Given the description of an element on the screen output the (x, y) to click on. 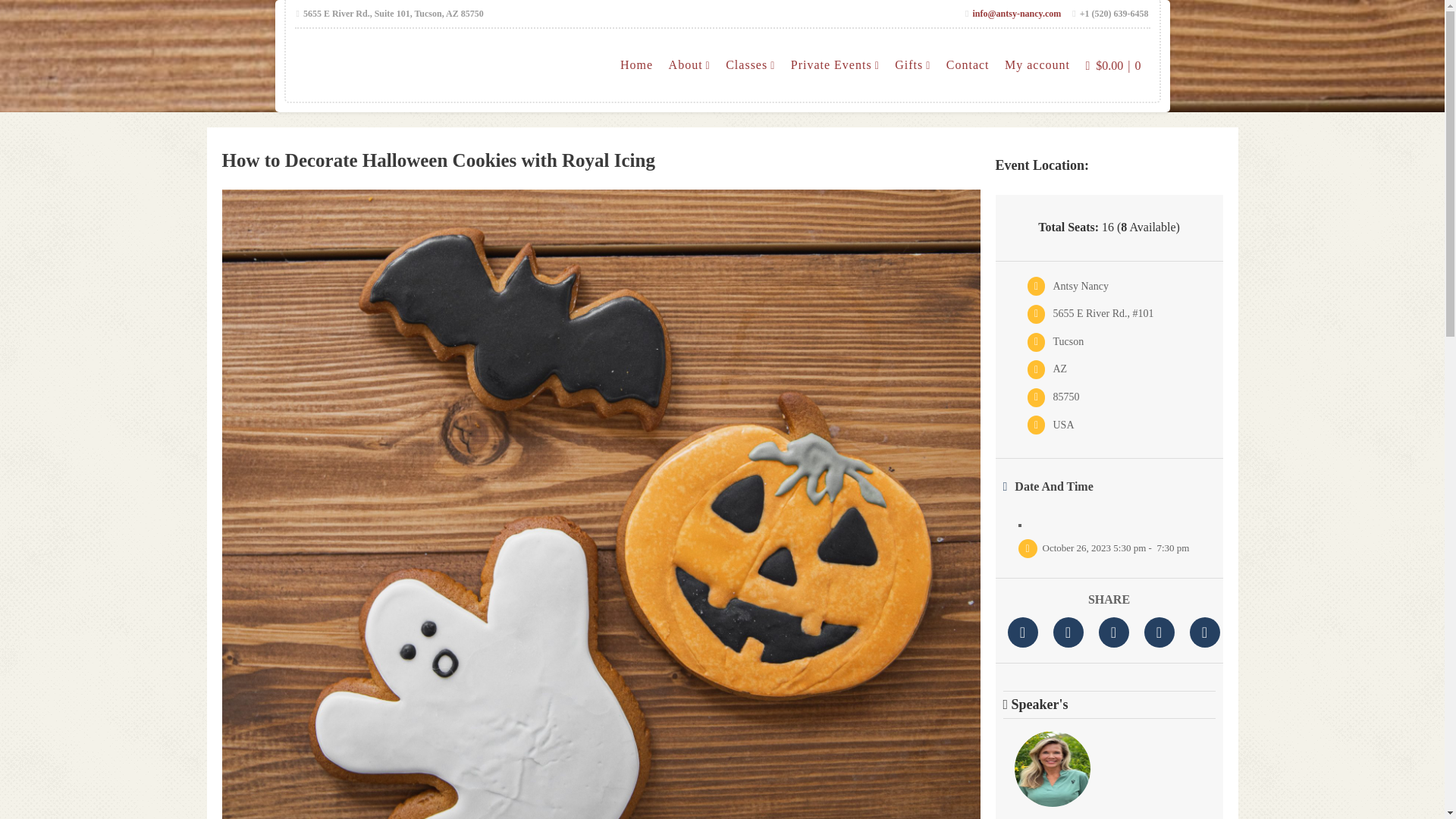
Private Events (834, 65)
About (689, 65)
Share by Email (1204, 632)
Gifts (912, 65)
Classes (749, 65)
My account (1036, 64)
Heidi Yribar (1052, 775)
Contact (967, 64)
View your shopping cart (1112, 64)
Home (636, 64)
